Given the description of an element on the screen output the (x, y) to click on. 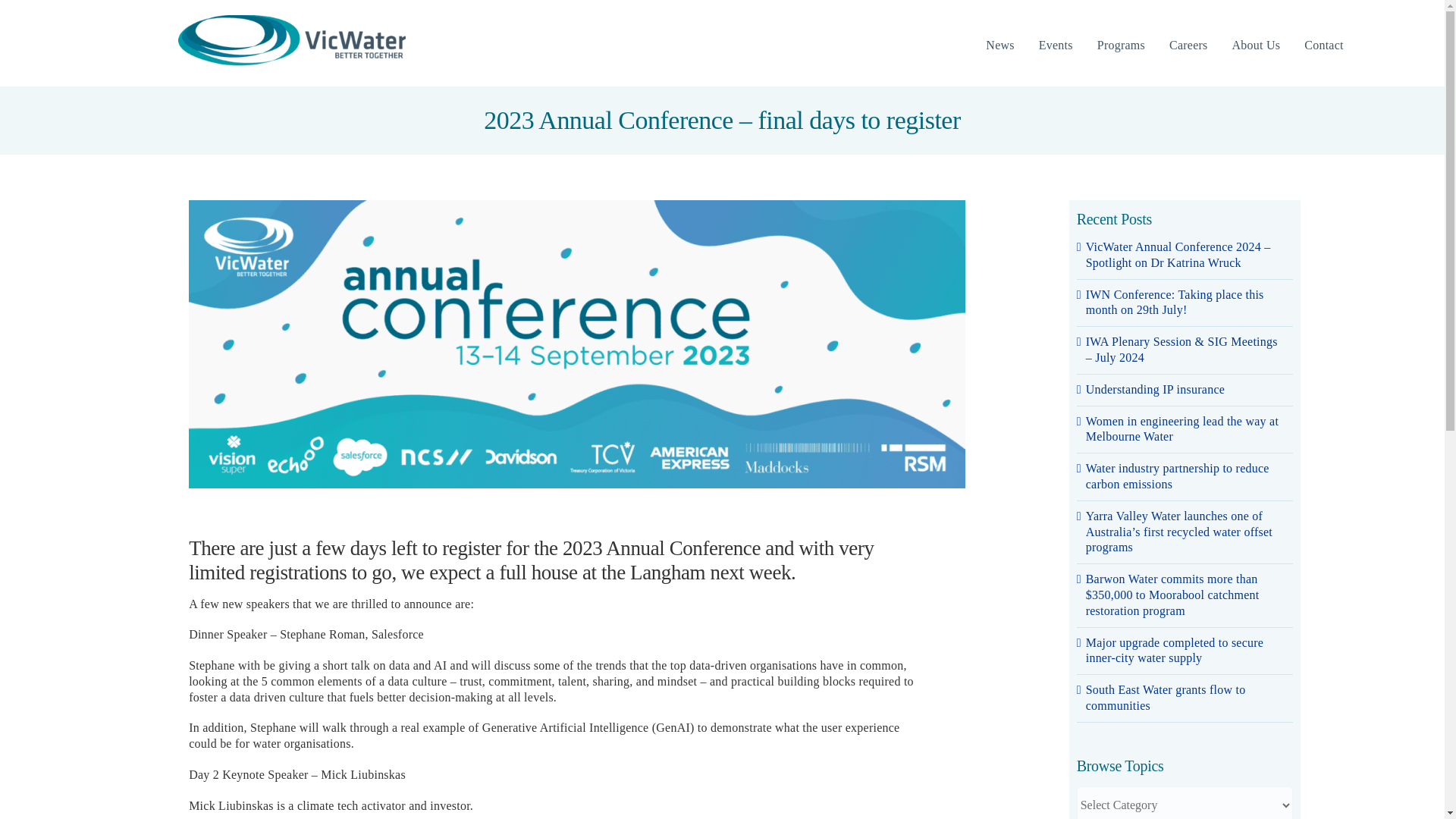
Major upgrade completed to secure inner-city water supply (1174, 650)
Understanding IP insurance (1155, 389)
Contact (1323, 45)
Careers (1188, 45)
Events (1056, 45)
About Us (1256, 45)
News (999, 45)
Women in engineering lead the way at Melbourne Water (1182, 428)
Water industry partnership to reduce carbon emissions (1177, 475)
Programs (1120, 45)
South East Water grants flow to communities (1166, 697)
IWN Conference: Taking place this month on 29th July! (1174, 302)
